Given the description of an element on the screen output the (x, y) to click on. 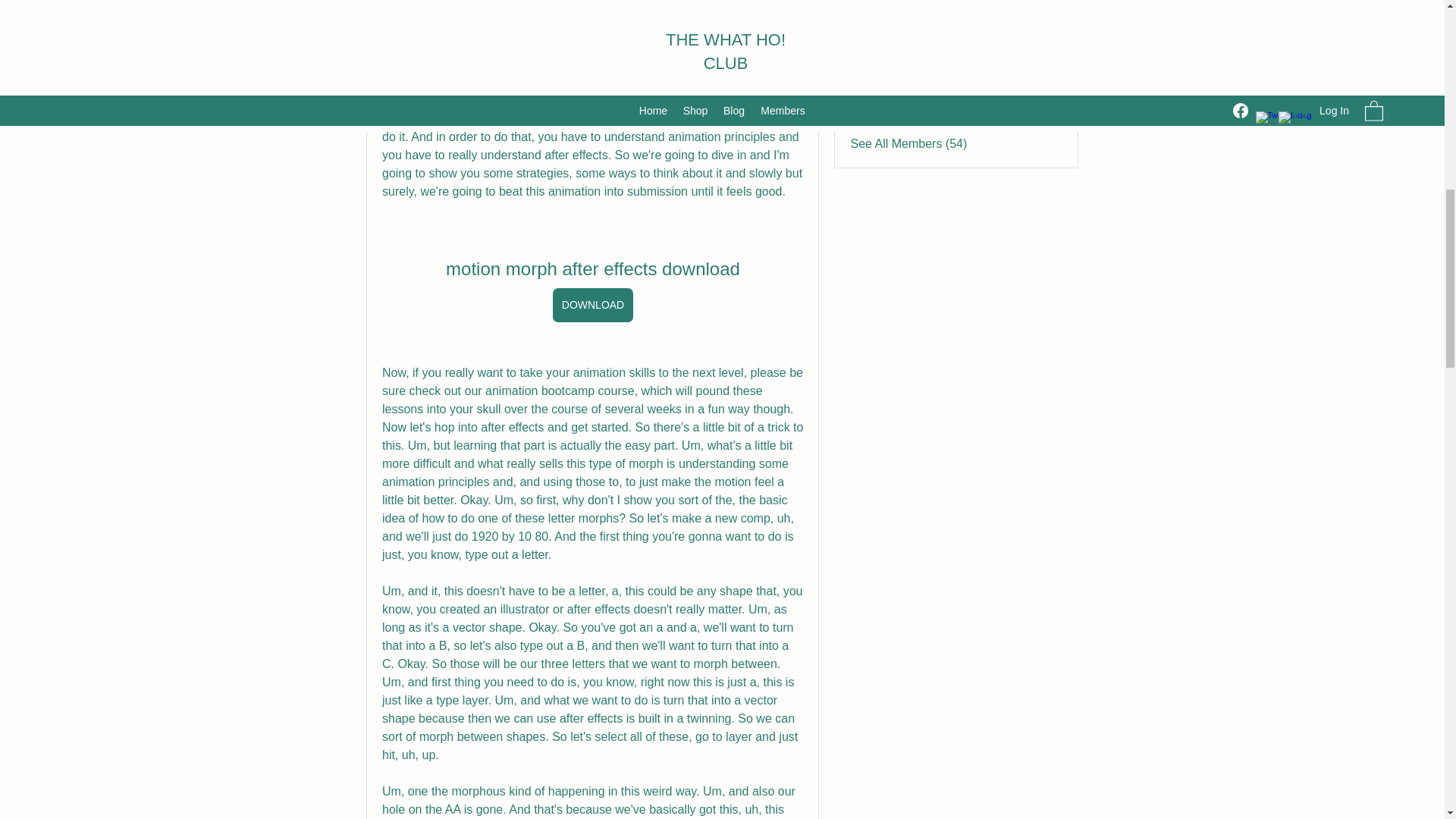
Follow (1044, 2)
mionkas wlac (922, 1)
Sigrid Sigrid (863, 68)
mionkas wlac (922, 1)
James Stiller (921, 103)
Hasa Hasa (916, 30)
James Stiller (863, 104)
Sigrid Sigrid (919, 66)
DOWNLOAD (591, 305)
Hasa Hasa (916, 30)
